Given the description of an element on the screen output the (x, y) to click on. 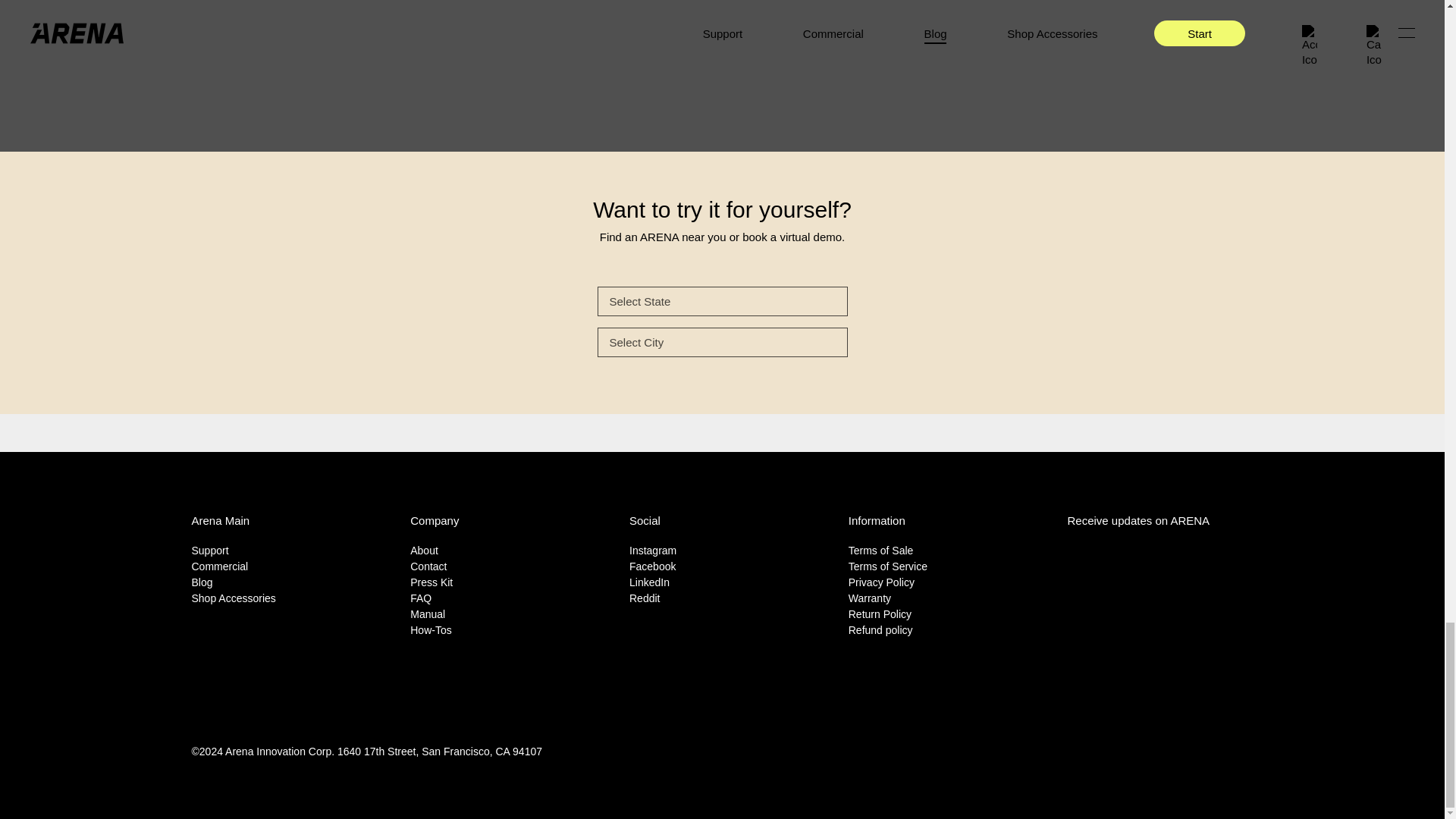
Terms of Service (887, 566)
LinkedIn (648, 582)
Facebook (651, 566)
FAQ (420, 598)
Contact (428, 566)
Commercial (218, 566)
Support (209, 550)
About (424, 550)
Manual (427, 614)
Return Policy (879, 614)
